Given the description of an element on the screen output the (x, y) to click on. 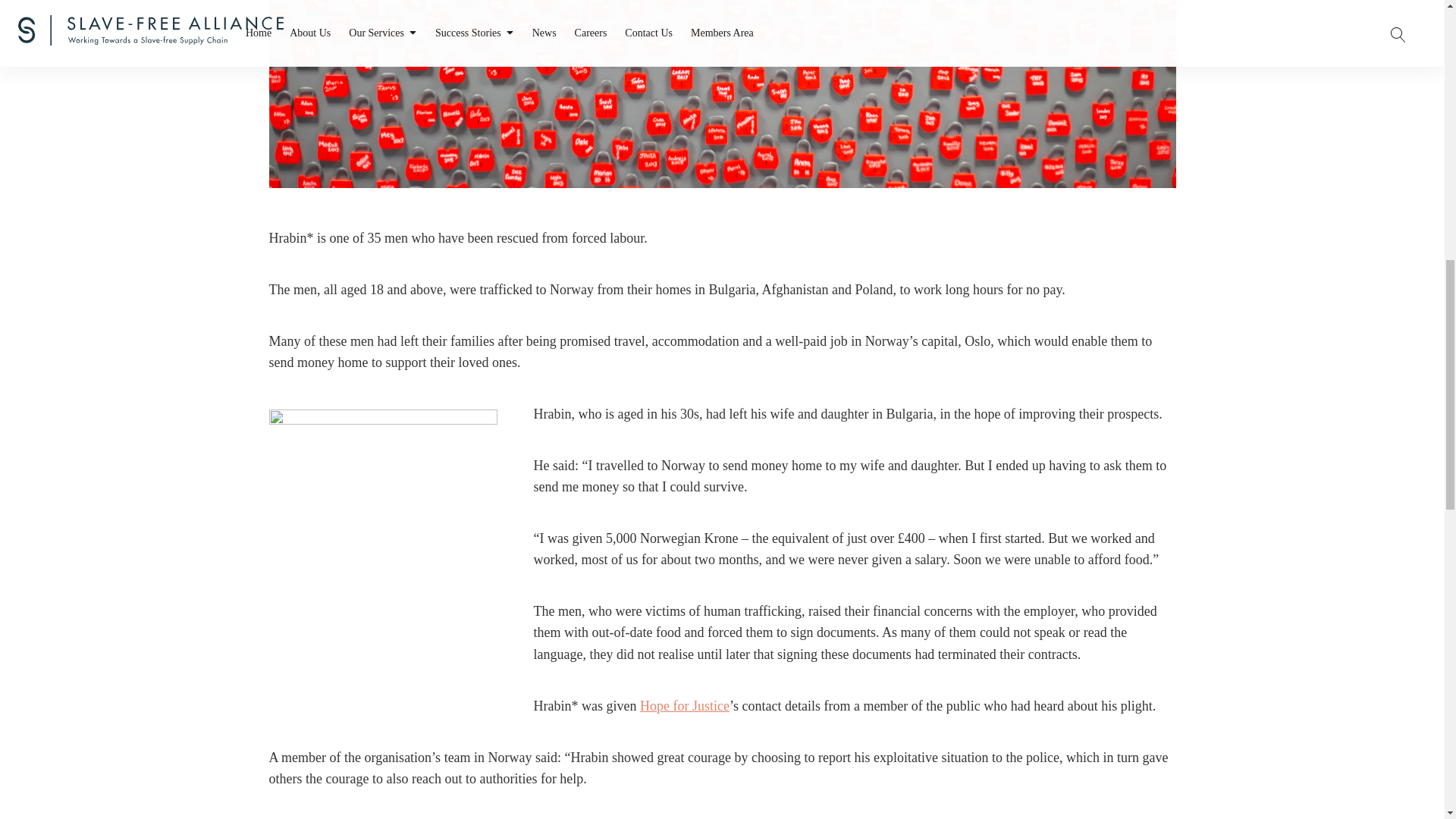
Hope for Justice (684, 705)
